Given the description of an element on the screen output the (x, y) to click on. 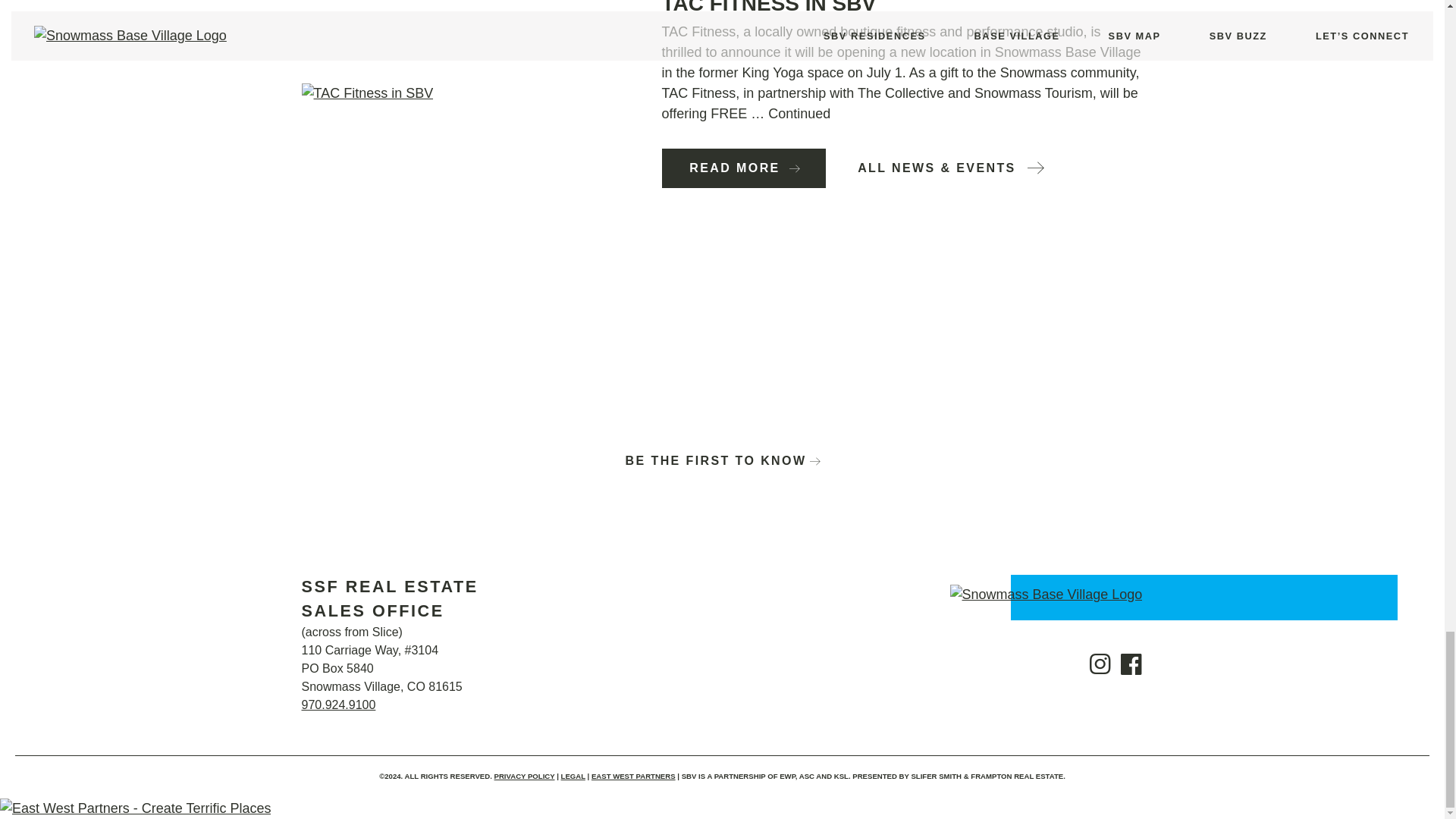
EAST WEST PARTNERS (633, 776)
READ MORE (743, 168)
BE THE FIRST TO KNOW (722, 459)
PRIVACY POLICY (524, 776)
970.924.9100 (338, 704)
LEGAL (572, 776)
